Given the description of an element on the screen output the (x, y) to click on. 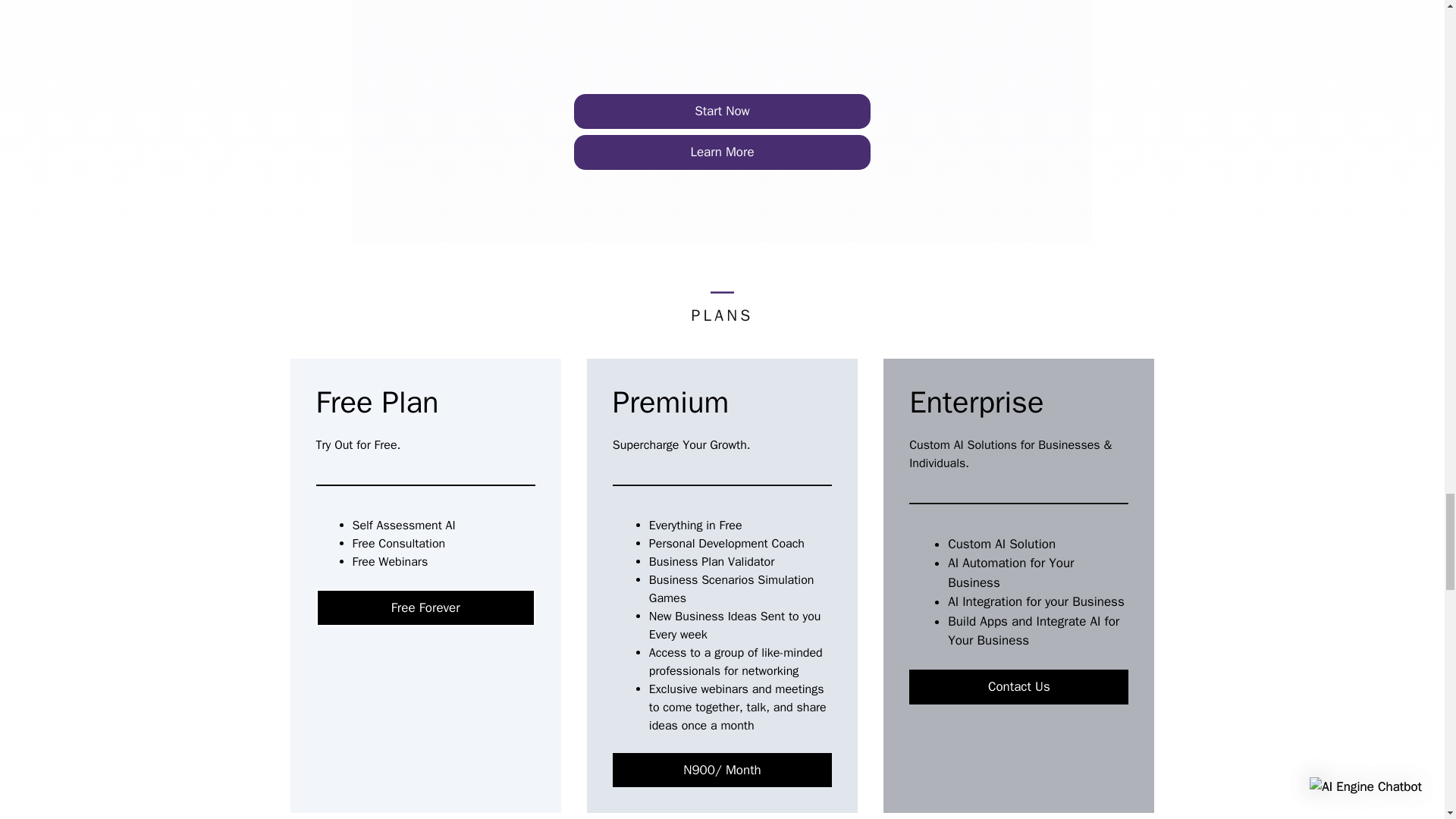
Free Forever (424, 607)
Start Now (721, 111)
Learn More (721, 152)
Contact Us (1018, 686)
